Given the description of an element on the screen output the (x, y) to click on. 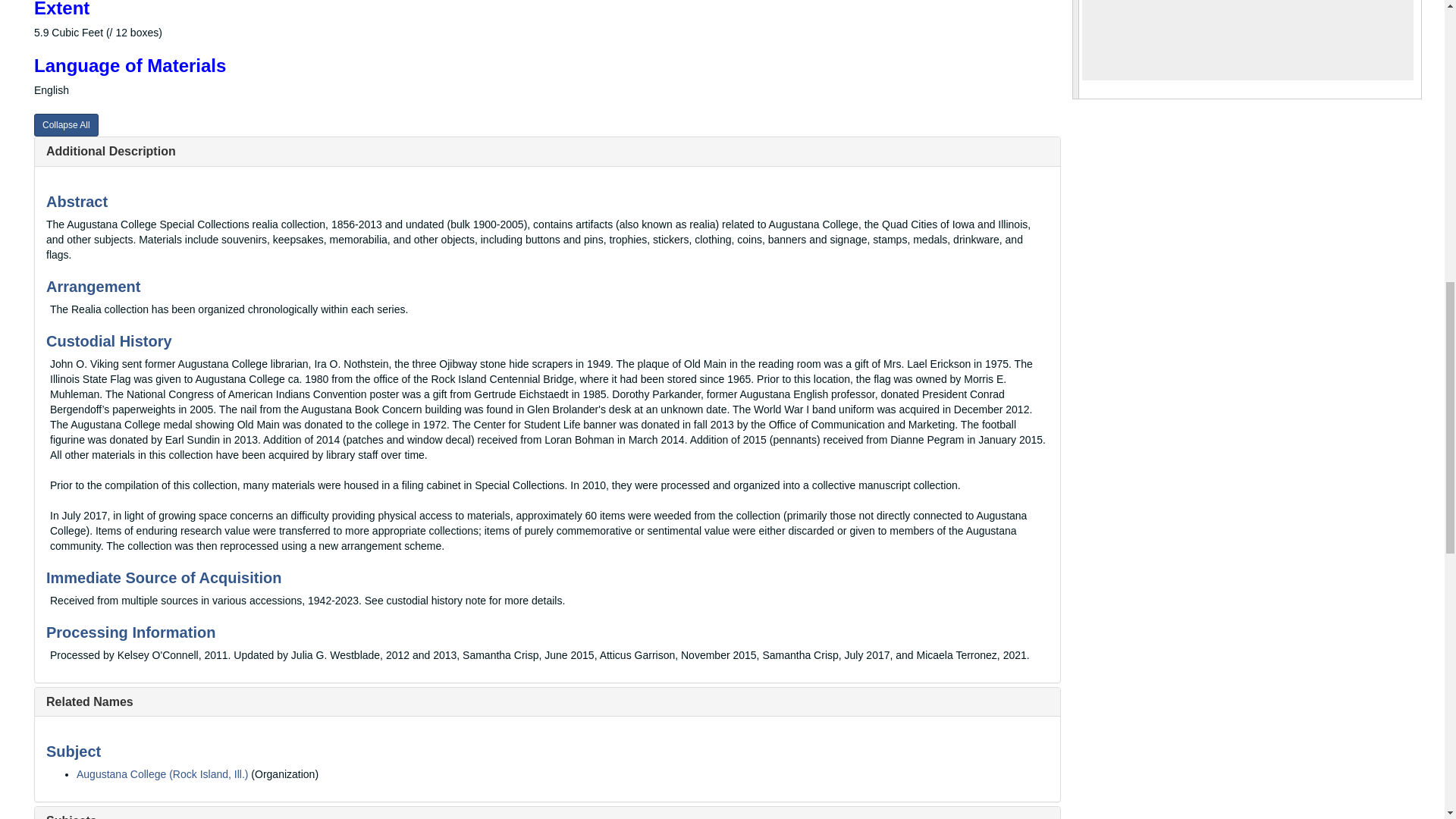
Additional Description (111, 151)
Subjects (71, 816)
Collapse All (66, 124)
Related Names (89, 701)
